Given the description of an element on the screen output the (x, y) to click on. 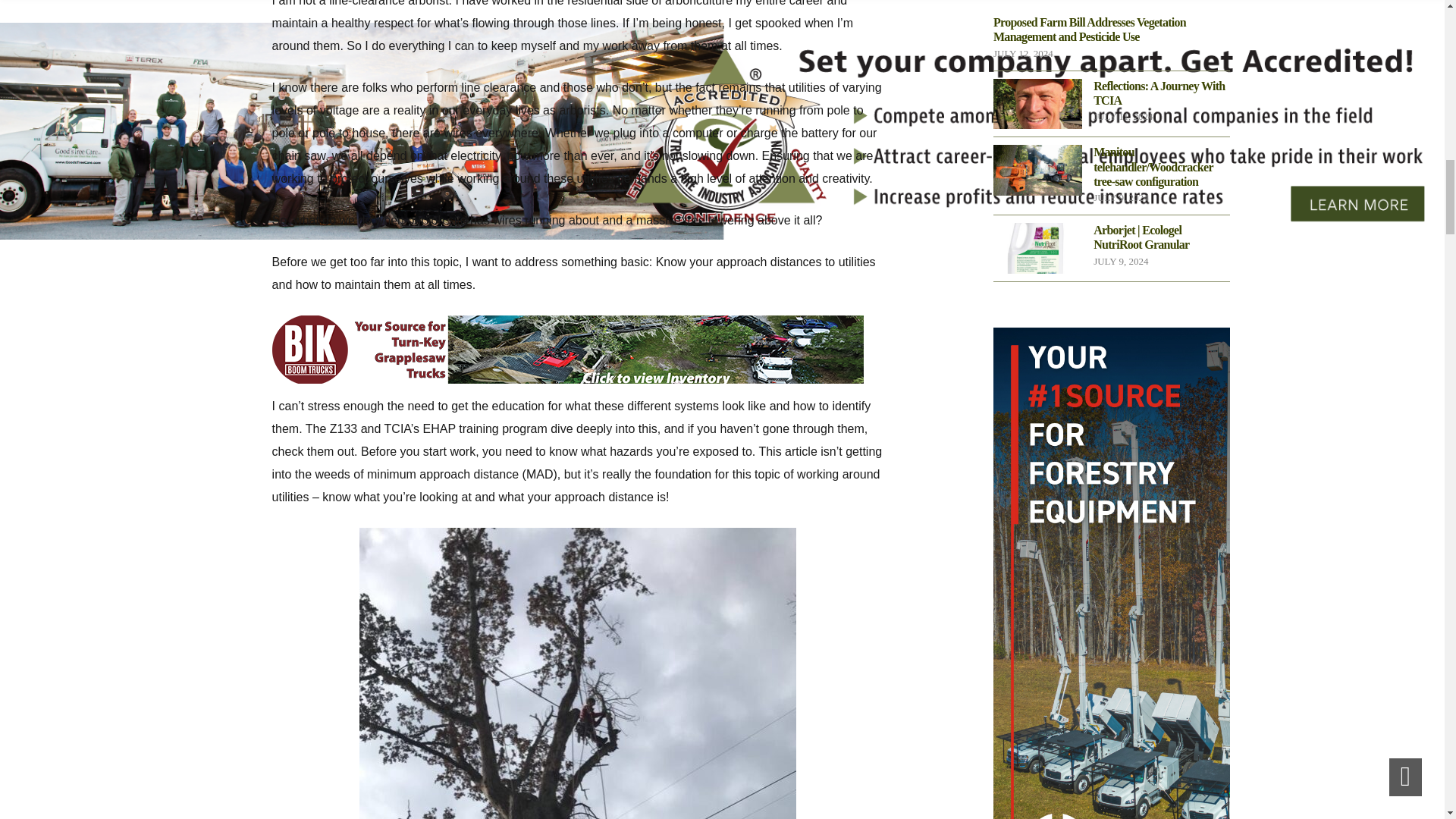
BIK - Mid Article - 2024 (567, 349)
